Given the description of an element on the screen output the (x, y) to click on. 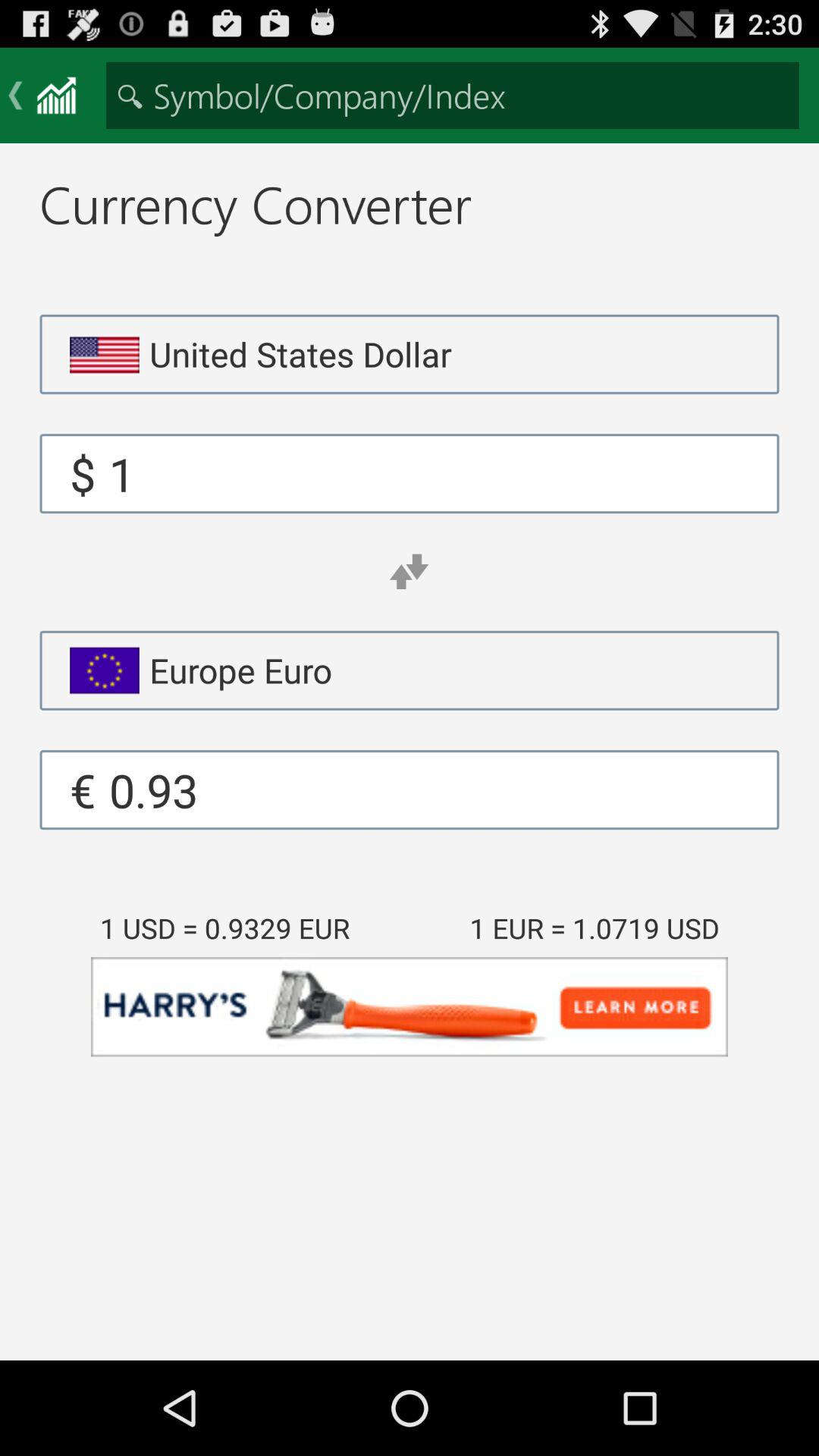
finance search bar (452, 95)
